Given the description of an element on the screen output the (x, y) to click on. 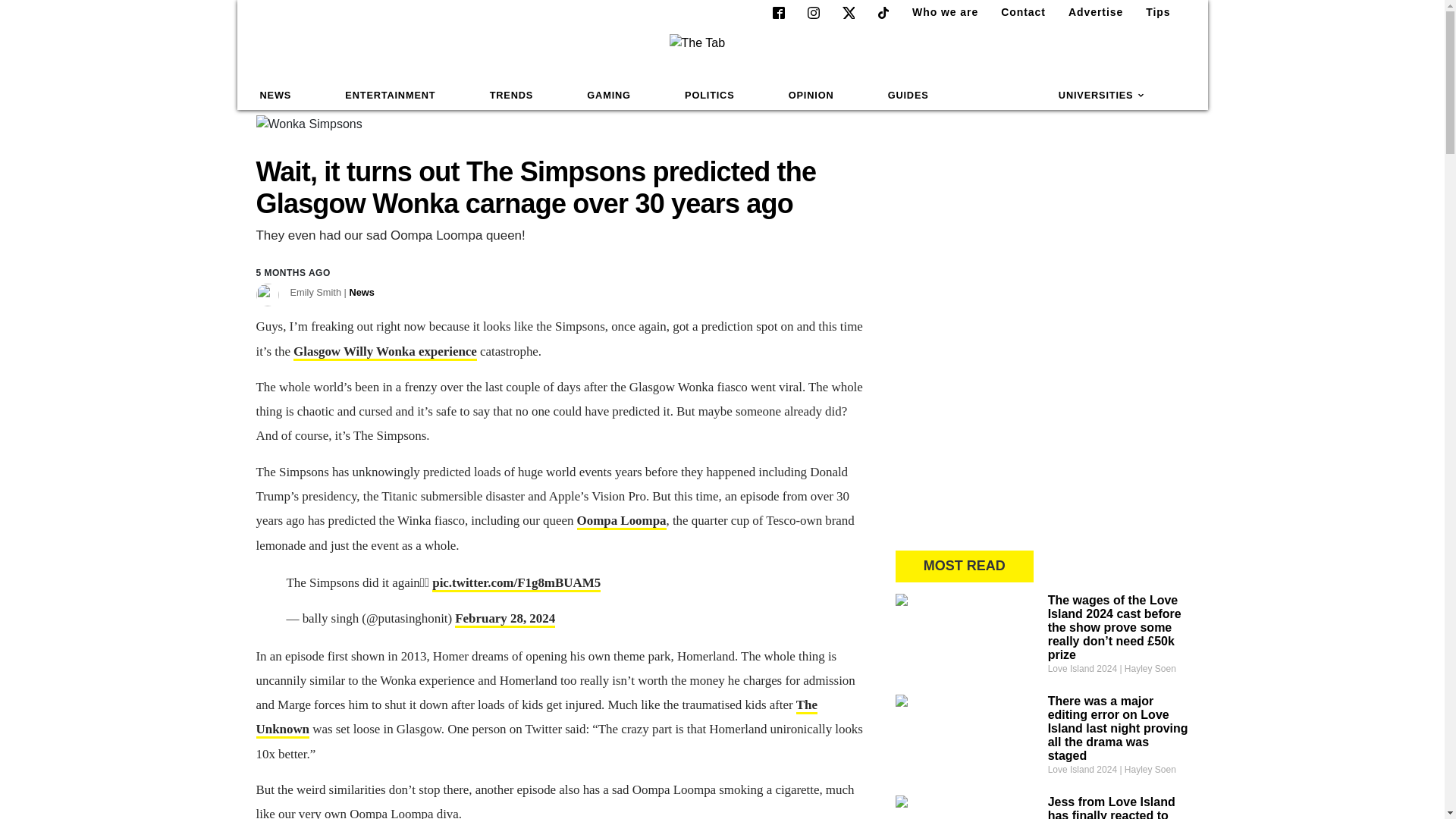
NEWS (275, 95)
Who we are (938, 11)
UNIVERSITIES (1101, 95)
POLITICS (708, 95)
Tips (1152, 11)
Contact (1016, 11)
Advertise (1089, 11)
GAMING (608, 95)
OPINION (811, 95)
ENTERTAINMENT (389, 95)
Posts by Emily Smith (331, 292)
GUIDES (908, 95)
TRENDS (511, 95)
